Given the description of an element on the screen output the (x, y) to click on. 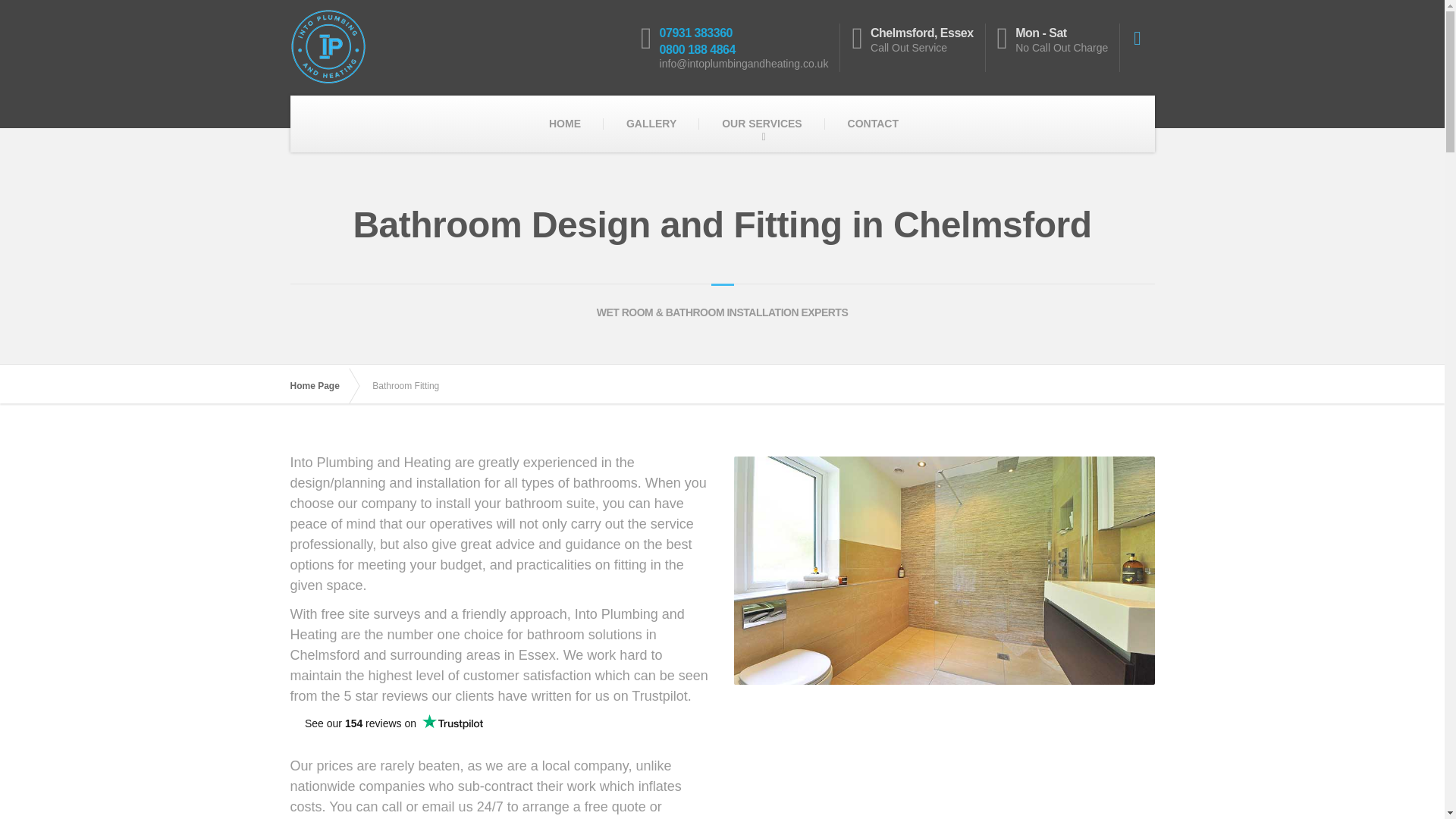
OUR SERVICES (761, 123)
HOME (564, 123)
Home Page (321, 385)
07931 383360 (695, 32)
CONTACT (873, 123)
Plumbers Chelmsford (321, 385)
0800 188 4864 (697, 49)
GALLERY (651, 123)
Customer reviews powered by Trustpilot (392, 730)
